Given the description of an element on the screen output the (x, y) to click on. 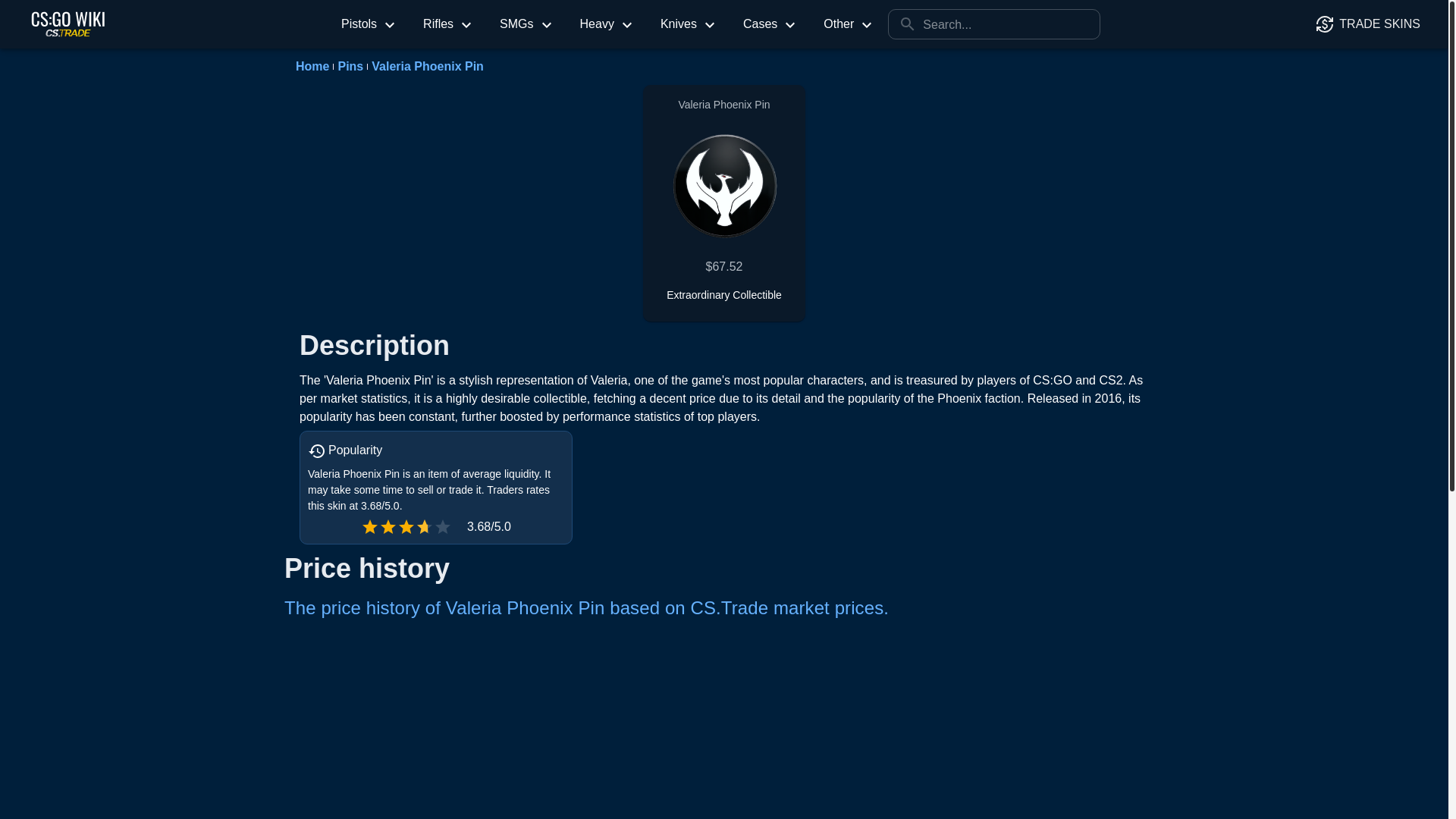
Pins (349, 66)
Valeria Phoenix Pin (724, 179)
Valeria Phoenix Pin (427, 66)
TRADE SKINS (1370, 24)
Home (312, 66)
